Given the description of an element on the screen output the (x, y) to click on. 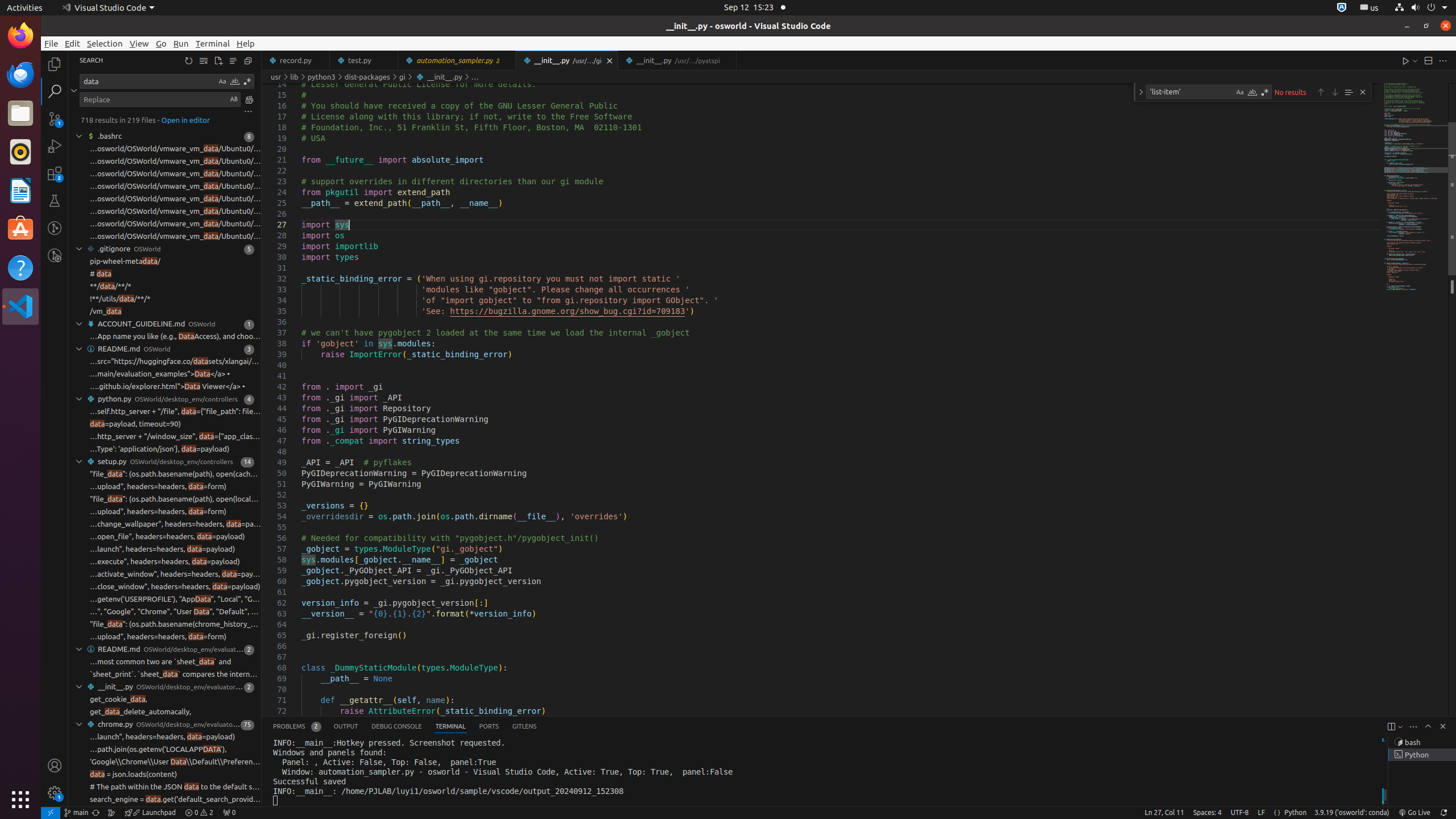
'**/data/**/*' at column 4 found data Element type: tree-item (164, 285)
…osworld/OSWorld/vmware_vm_data/Ubuntu0/Ubuntu0.vmx "/bin/bash" "ip a > /home/user/vm.log" && vmrun -gu user -gp password copyFileFromGuestToHost /home/PJLAB/luyi1/osworld/OSWorld/vmware_vm_data/Ubuntu0/Ubuntu0.vmx /home/user/vm.log vm.log Element type: link (175, 198)
Previous Match (Shift+Enter) Element type: push-button (1320, 91)
Problems (Ctrl+Shift+M) - Total 2 Problems Element type: page-tab (296, 726)
View Element type: push-button (139, 43)
